Given the description of an element on the screen output the (x, y) to click on. 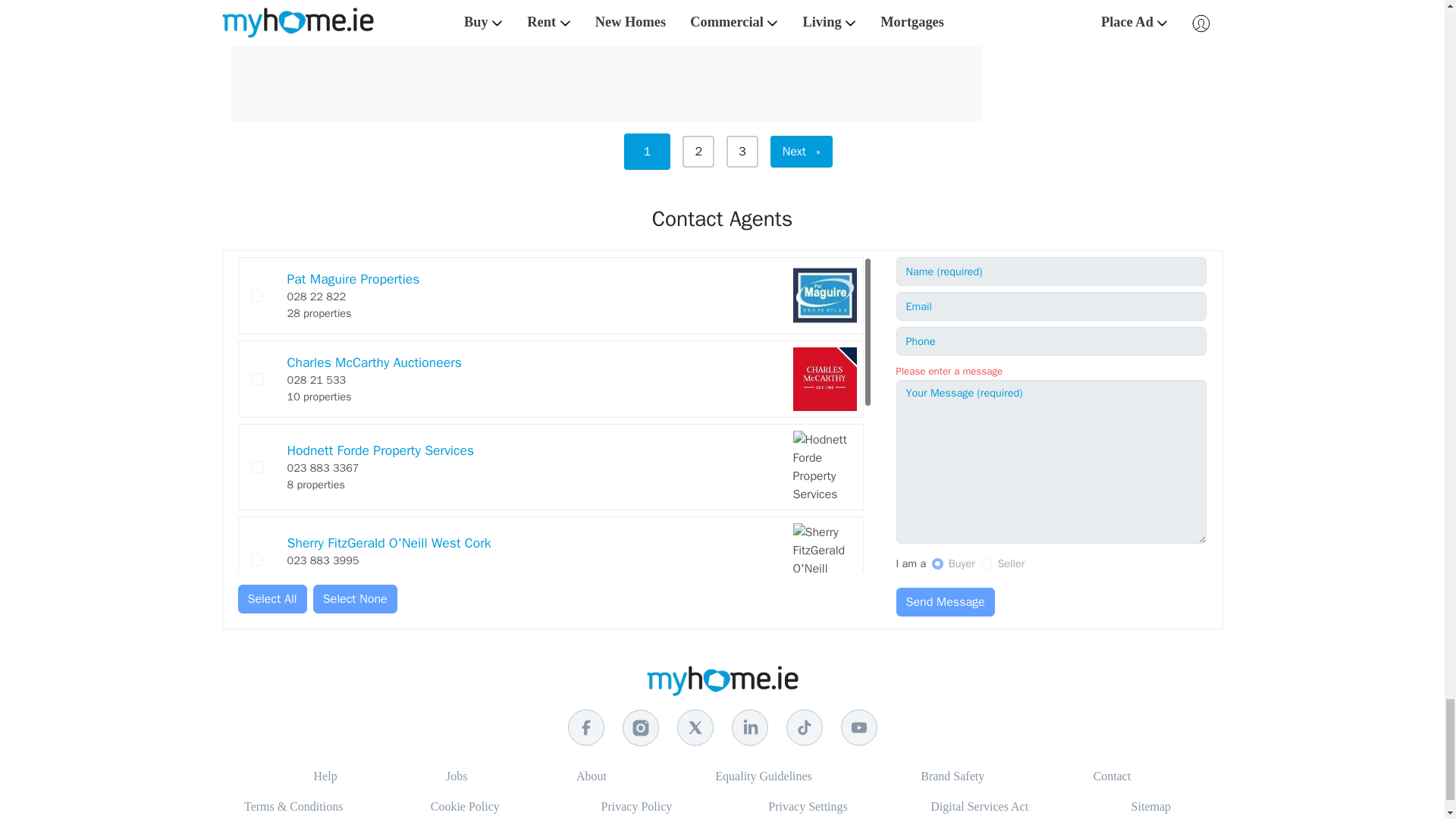
on (936, 562)
on (986, 562)
on (256, 647)
on (256, 378)
on (256, 726)
on (256, 794)
on (256, 559)
on (256, 295)
on (256, 467)
